Given the description of an element on the screen output the (x, y) to click on. 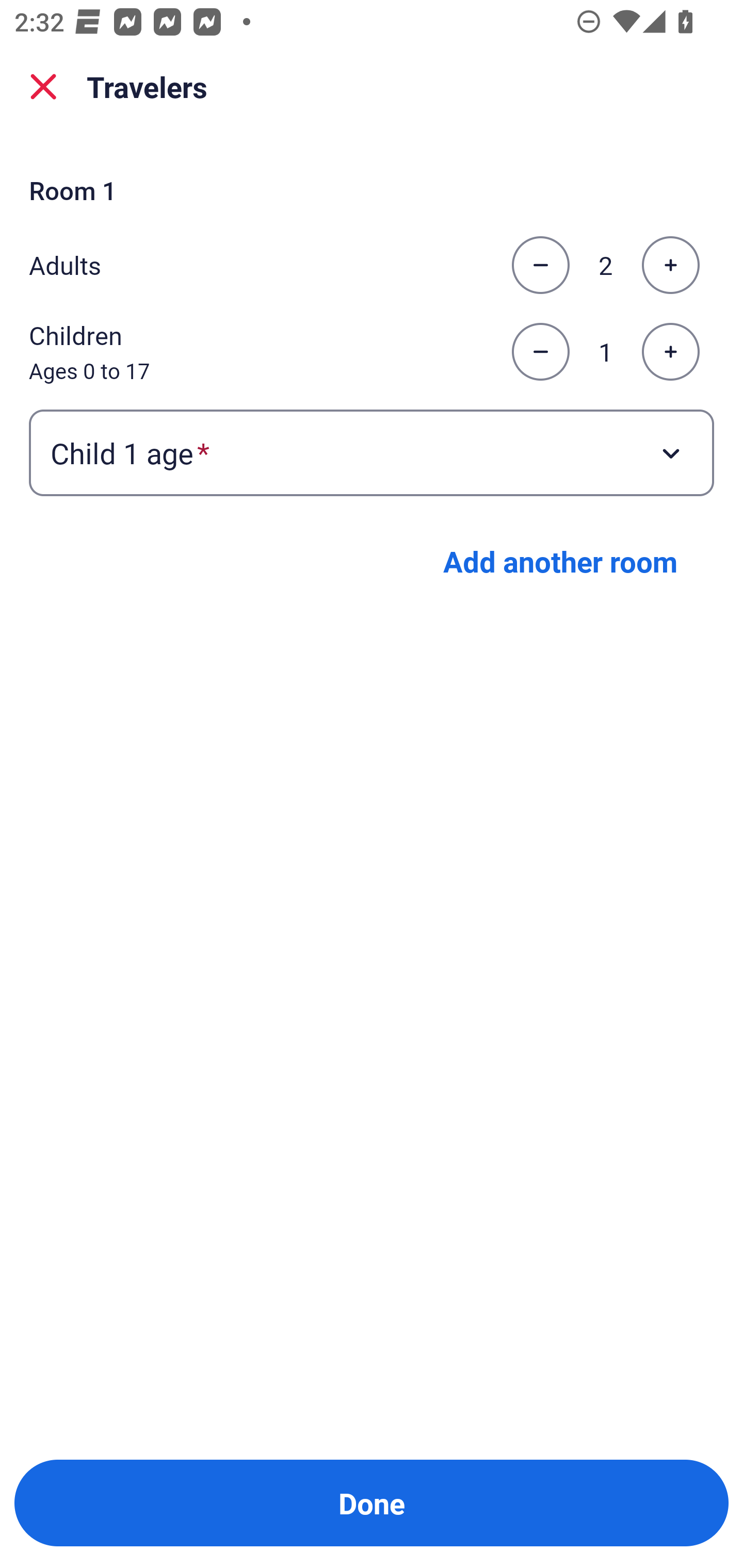
close (43, 86)
Decrease the number of adults (540, 264)
Increase the number of adults (670, 264)
Decrease the number of children (540, 351)
Increase the number of children (670, 351)
Child 1 age required Button (371, 452)
Add another room (560, 561)
Done (371, 1502)
